Given the description of an element on the screen output the (x, y) to click on. 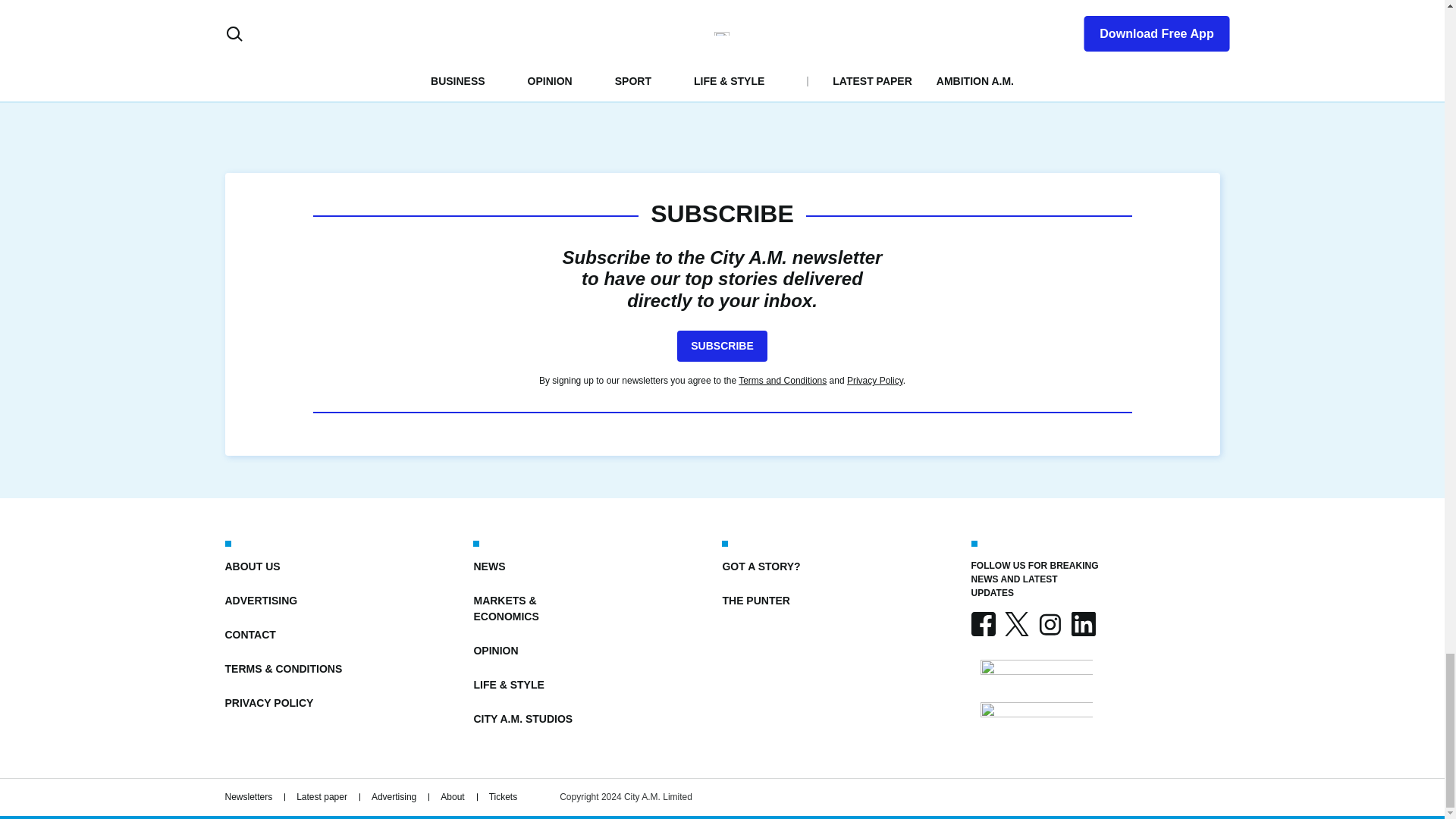
INSTAGRAM (1048, 623)
X (1015, 623)
LINKEDIN (1082, 623)
FACEBOOK (982, 623)
